Given the description of an element on the screen output the (x, y) to click on. 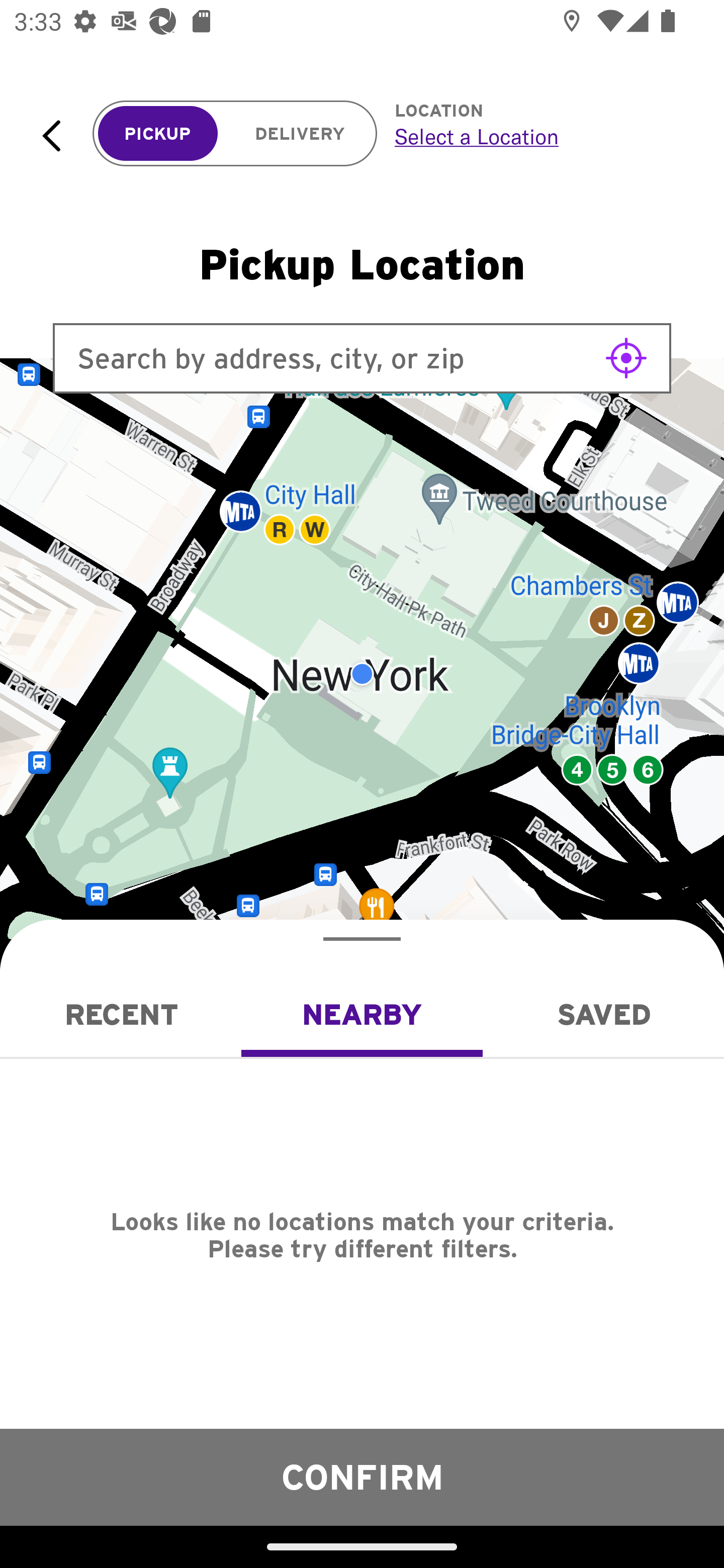
PICKUP (157, 133)
DELIVERY (299, 133)
Select a Location (536, 136)
Search by address, city, or zip (361, 358)
Google Map (362, 674)
Recent RECENT (120, 1014)
Saved SAVED (603, 1014)
CONFIRM (362, 1476)
